Given the description of an element on the screen output the (x, y) to click on. 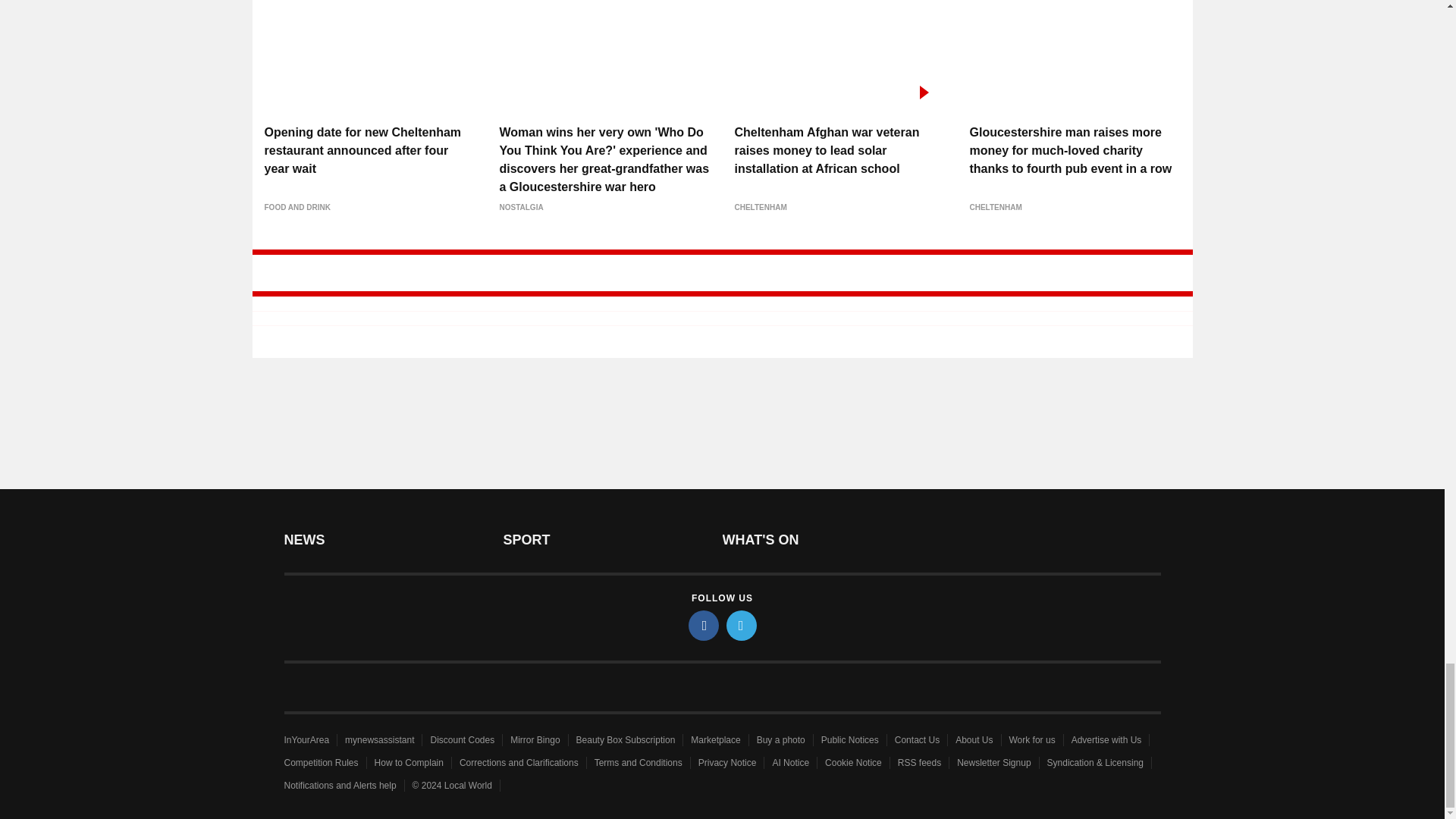
twitter (741, 625)
facebook (703, 625)
